Given the description of an element on the screen output the (x, y) to click on. 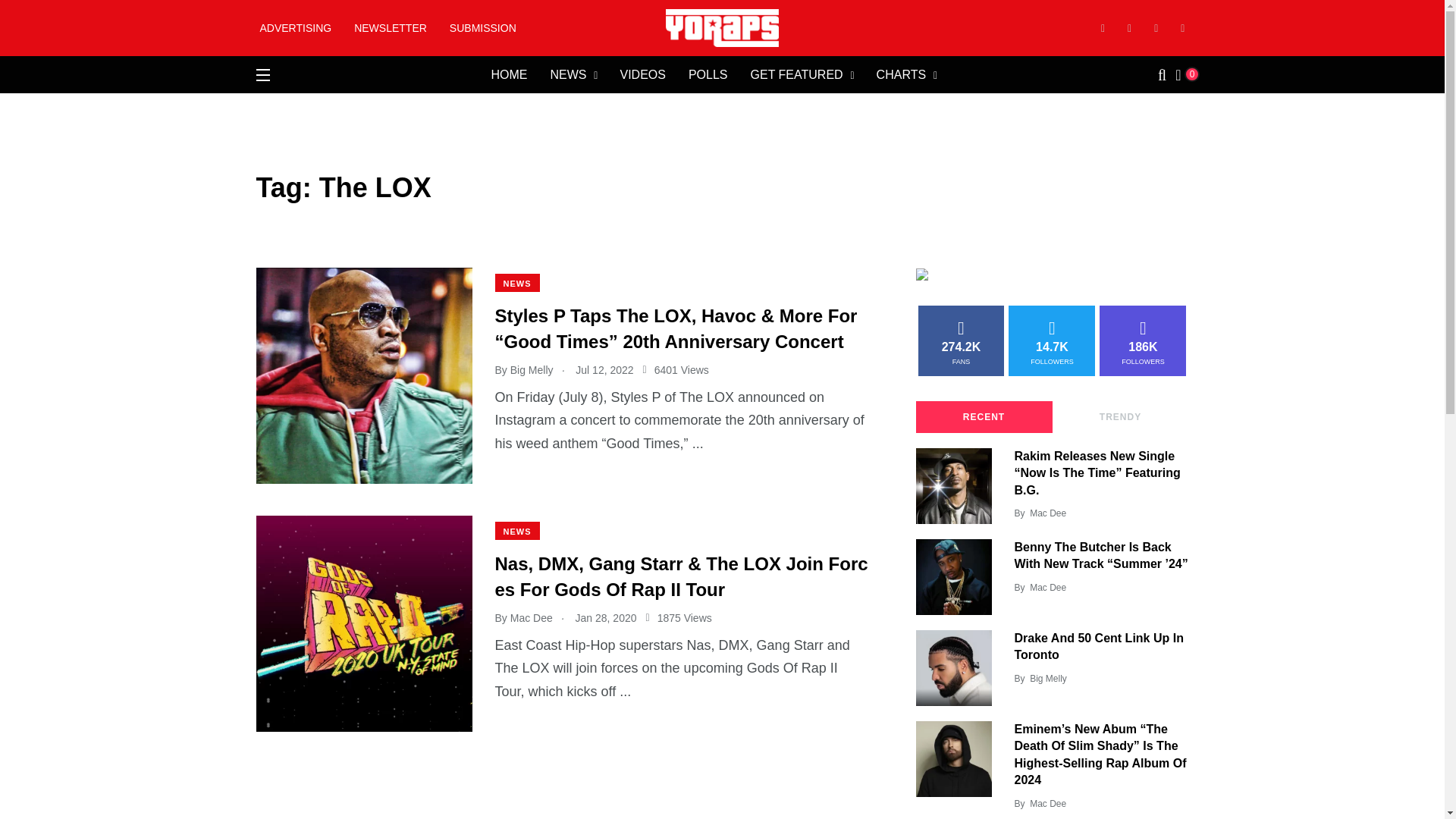
NEWSLETTER (389, 28)
Posts by Mac Dee (1047, 803)
HOME (508, 75)
ADVERTISING (295, 28)
SUBMISSION (482, 28)
CHARTS (901, 75)
POLLS (708, 75)
GET FEATURED (797, 75)
Posts by Mac Dee (1047, 587)
Posts by Mac Dee (1047, 512)
VIDEOS (642, 75)
NEWS (568, 75)
Posts by Big Melly (1048, 678)
